Given the description of an element on the screen output the (x, y) to click on. 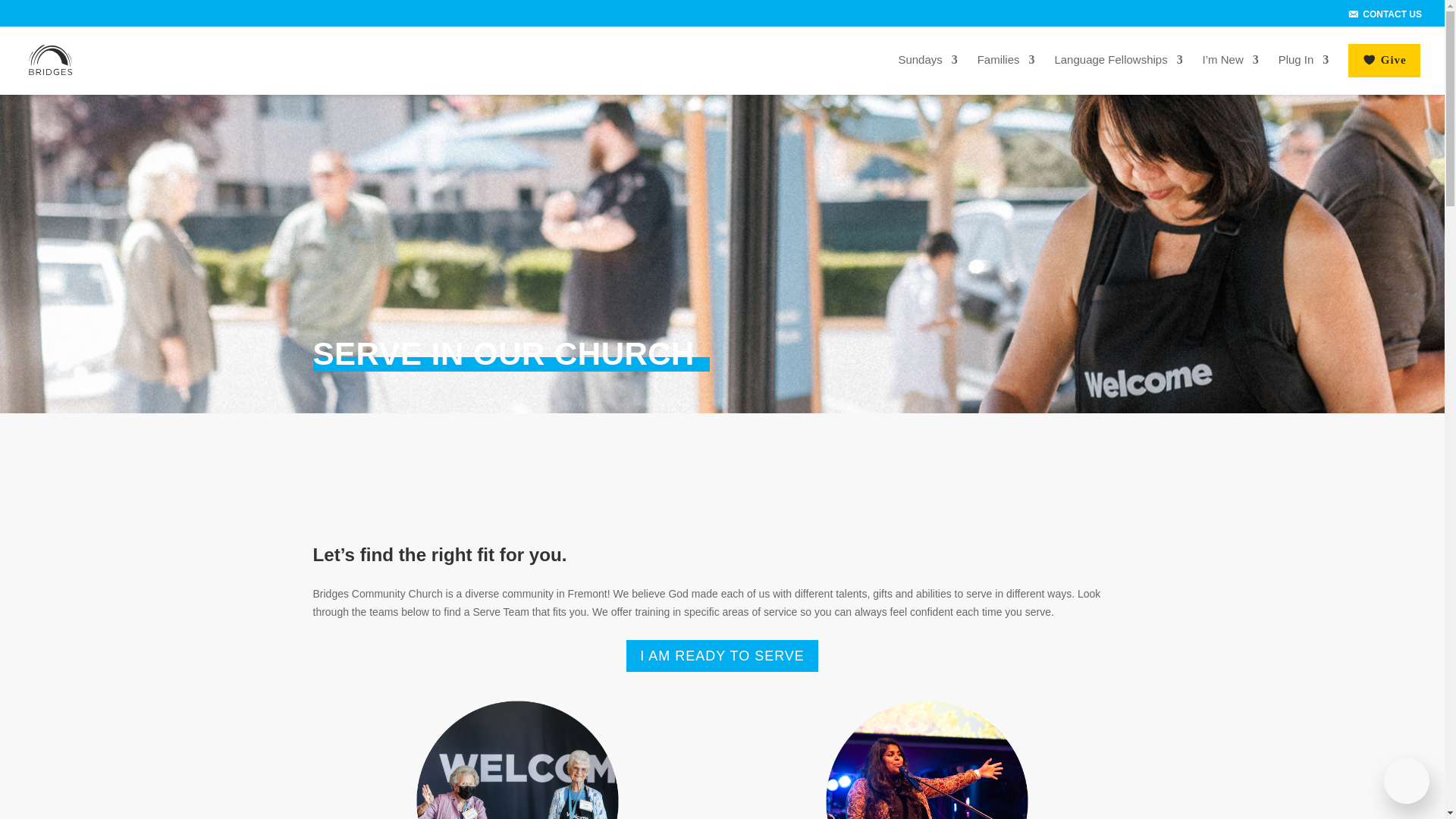
CONTACT US (1383, 16)
Families (1005, 72)
Give (1383, 69)
Sundays (927, 72)
Plug In (1303, 72)
Language Fellowships (1118, 72)
